Given the description of an element on the screen output the (x, y) to click on. 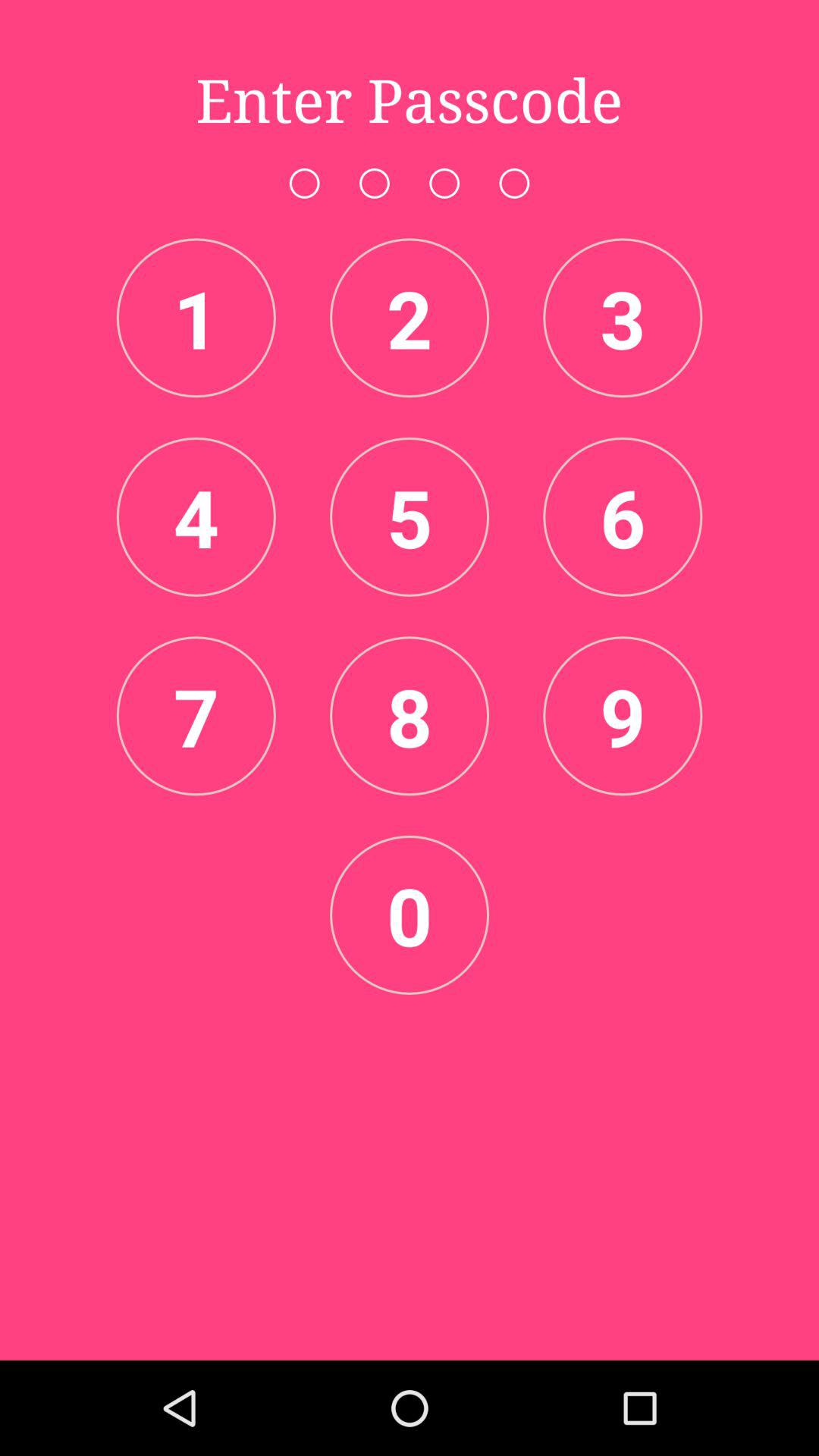
turn on the icon above 8 (409, 516)
